Given the description of an element on the screen output the (x, y) to click on. 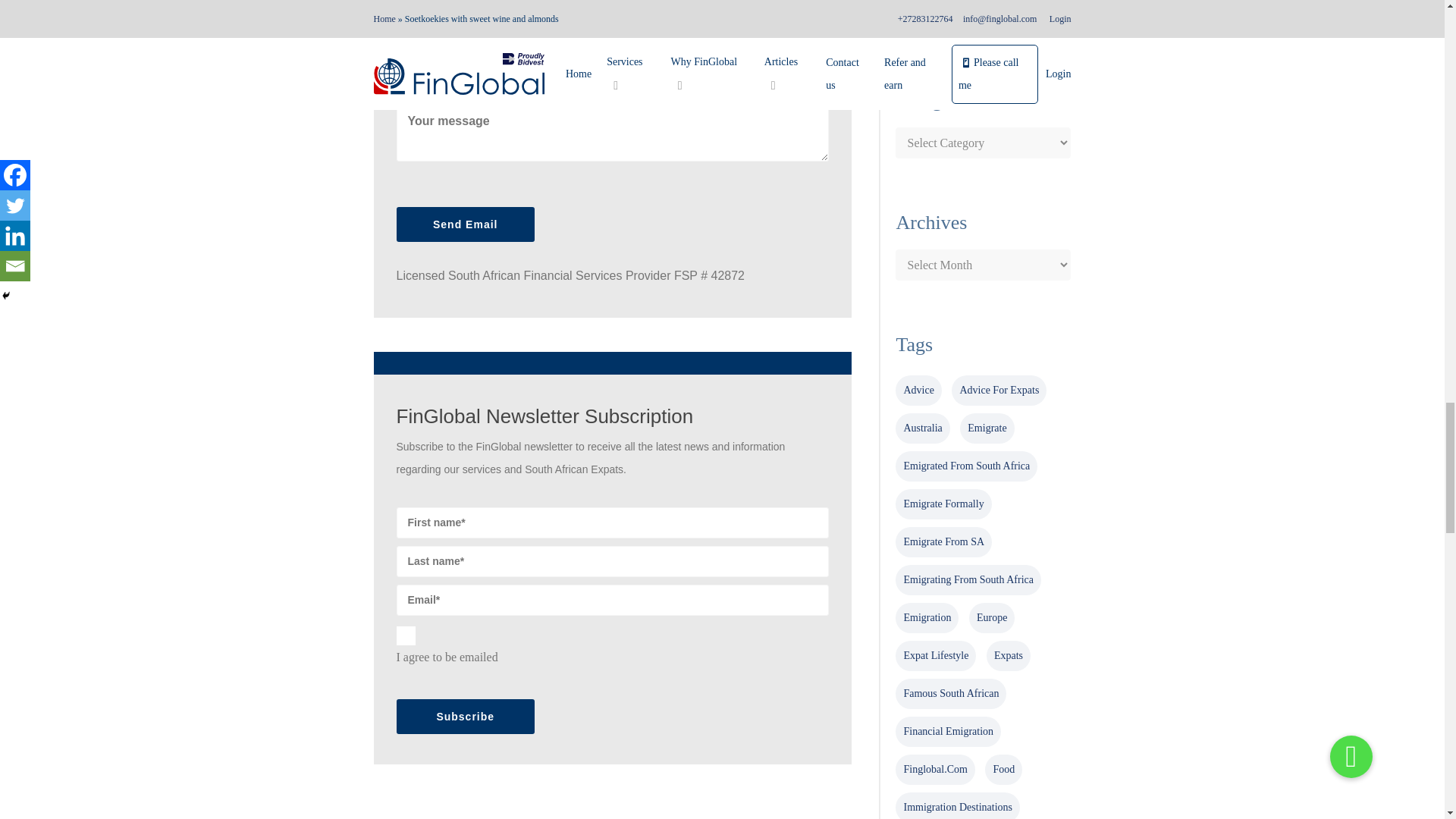
Select country (612, 29)
Service Enquiry (612, 73)
